Given the description of an element on the screen output the (x, y) to click on. 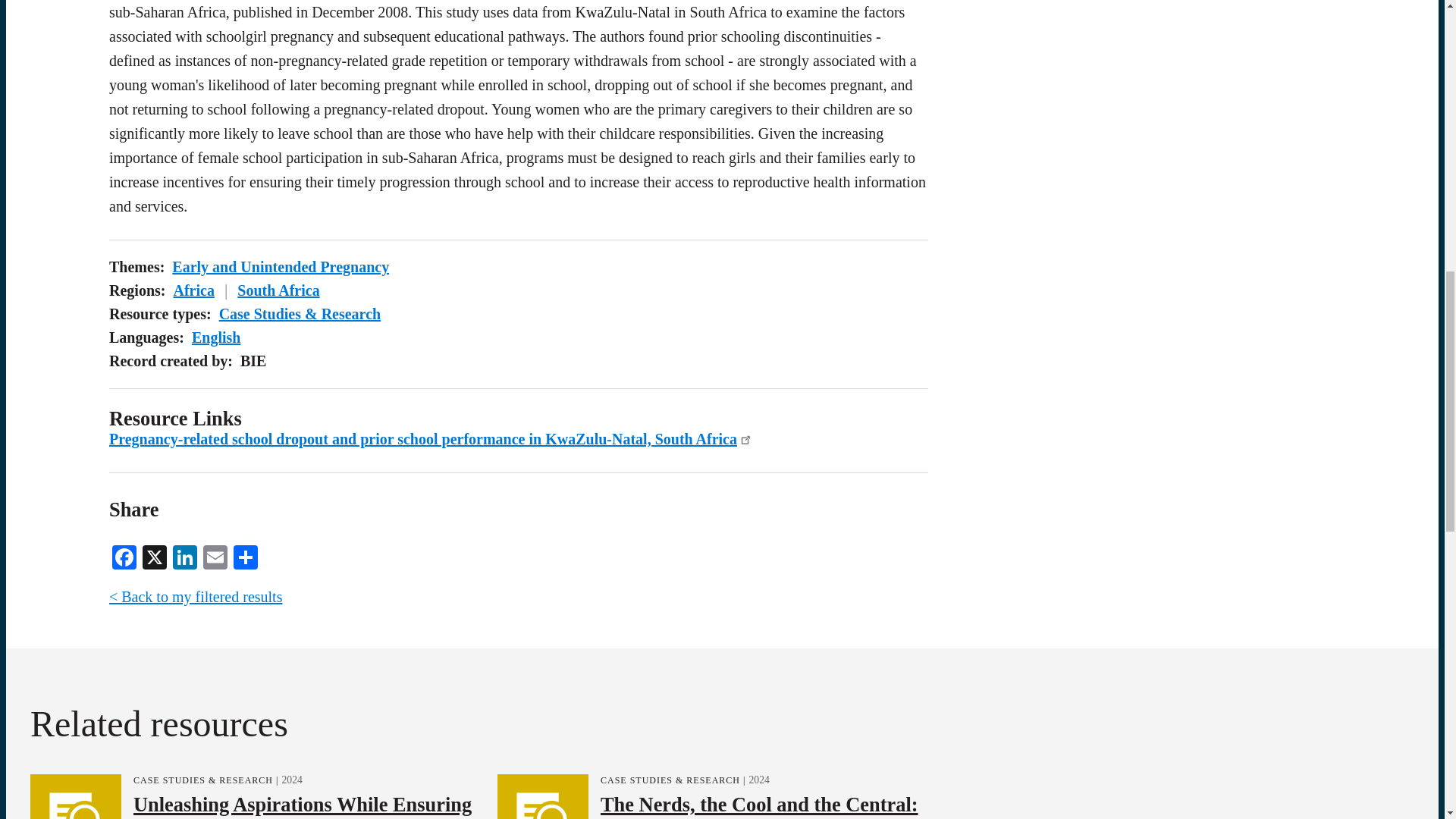
English (216, 337)
Africa (193, 289)
LinkedIn (185, 555)
South Africa (277, 289)
Facebook (124, 555)
X (154, 555)
Email (215, 555)
Early and Unintended Pregnancy (279, 266)
